Given the description of an element on the screen output the (x, y) to click on. 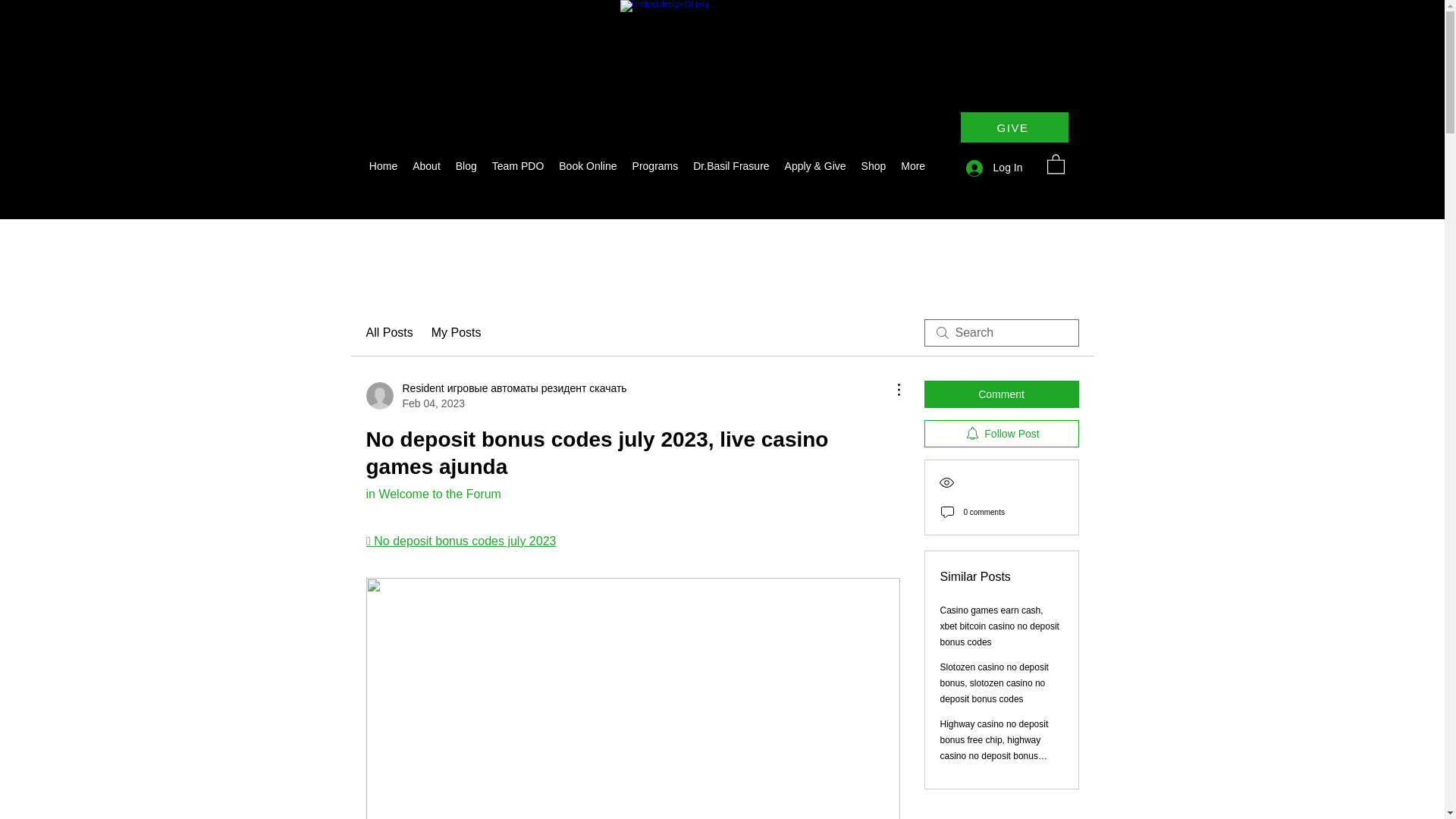
in Welcome to the Forum (432, 493)
My Posts (455, 332)
Comment (1000, 393)
Team PDO (517, 168)
All Posts (388, 332)
Blog (466, 168)
About (426, 168)
GIVE (1013, 127)
Home (382, 168)
